Given the description of an element on the screen output the (x, y) to click on. 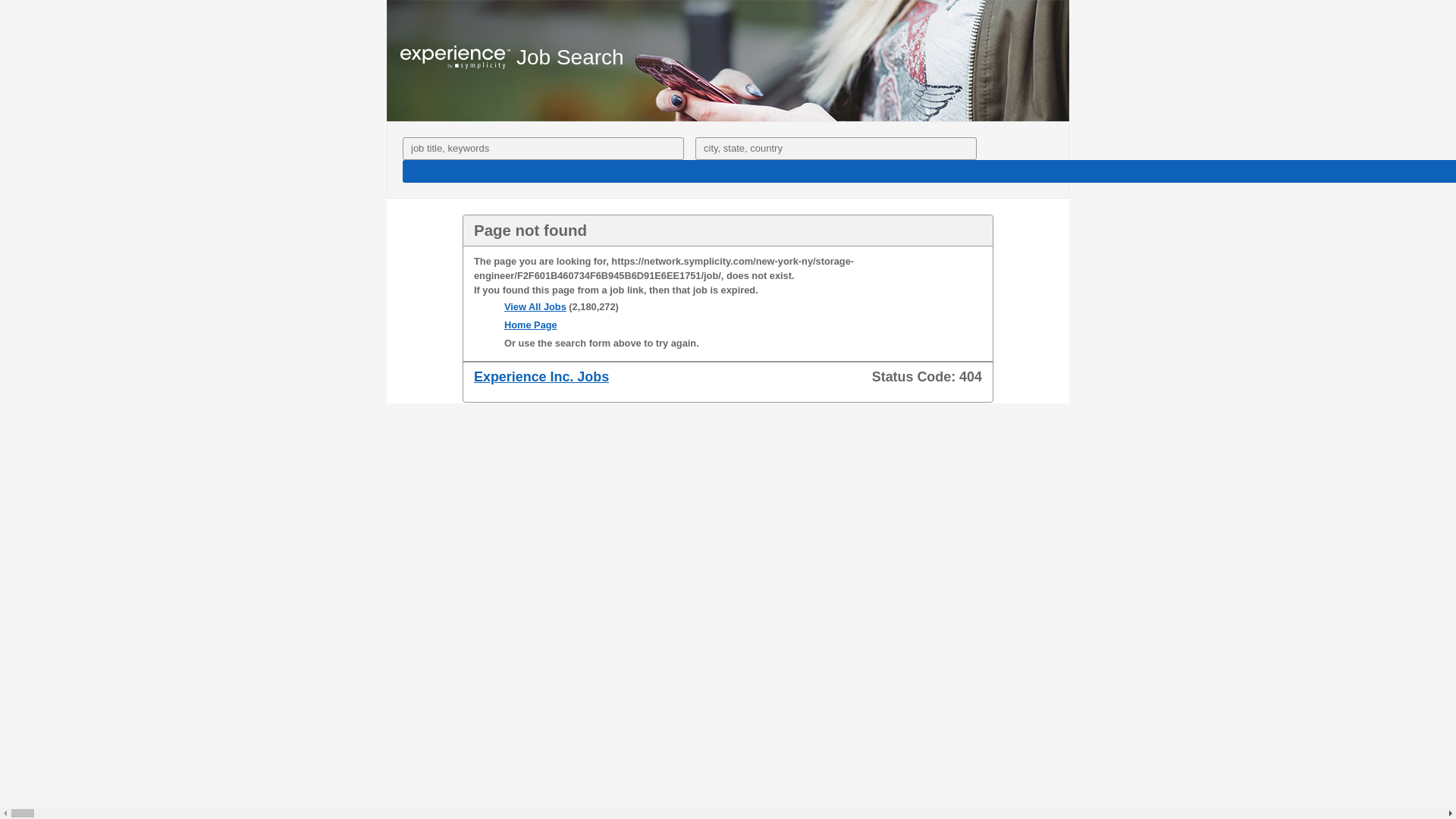
View All Jobs (534, 306)
Search Phrase (543, 148)
Experience Inc. Jobs (541, 376)
Search Location (835, 148)
Home Page (530, 324)
